Given the description of an element on the screen output the (x, y) to click on. 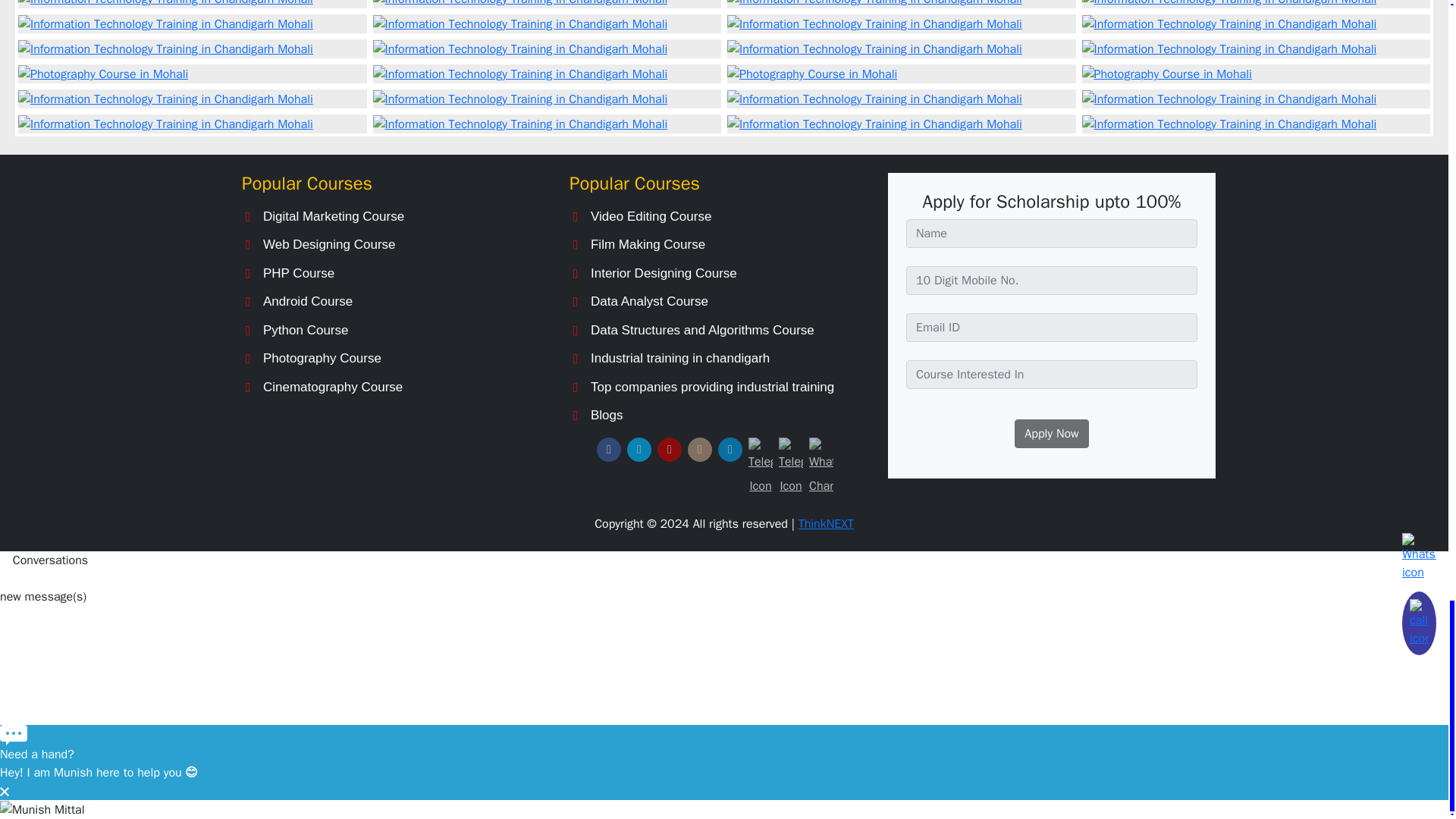
Information Technology Training in Chandigarh Mohali (1228, 4)
Best Information Technology Training in Chandigarh Mohali (874, 4)
Apply Now (1050, 433)
Information Technology Training in Chandigarh Mohali (165, 4)
Information Technology Training in Chandigarh Mohali (520, 4)
